Given the description of an element on the screen output the (x, y) to click on. 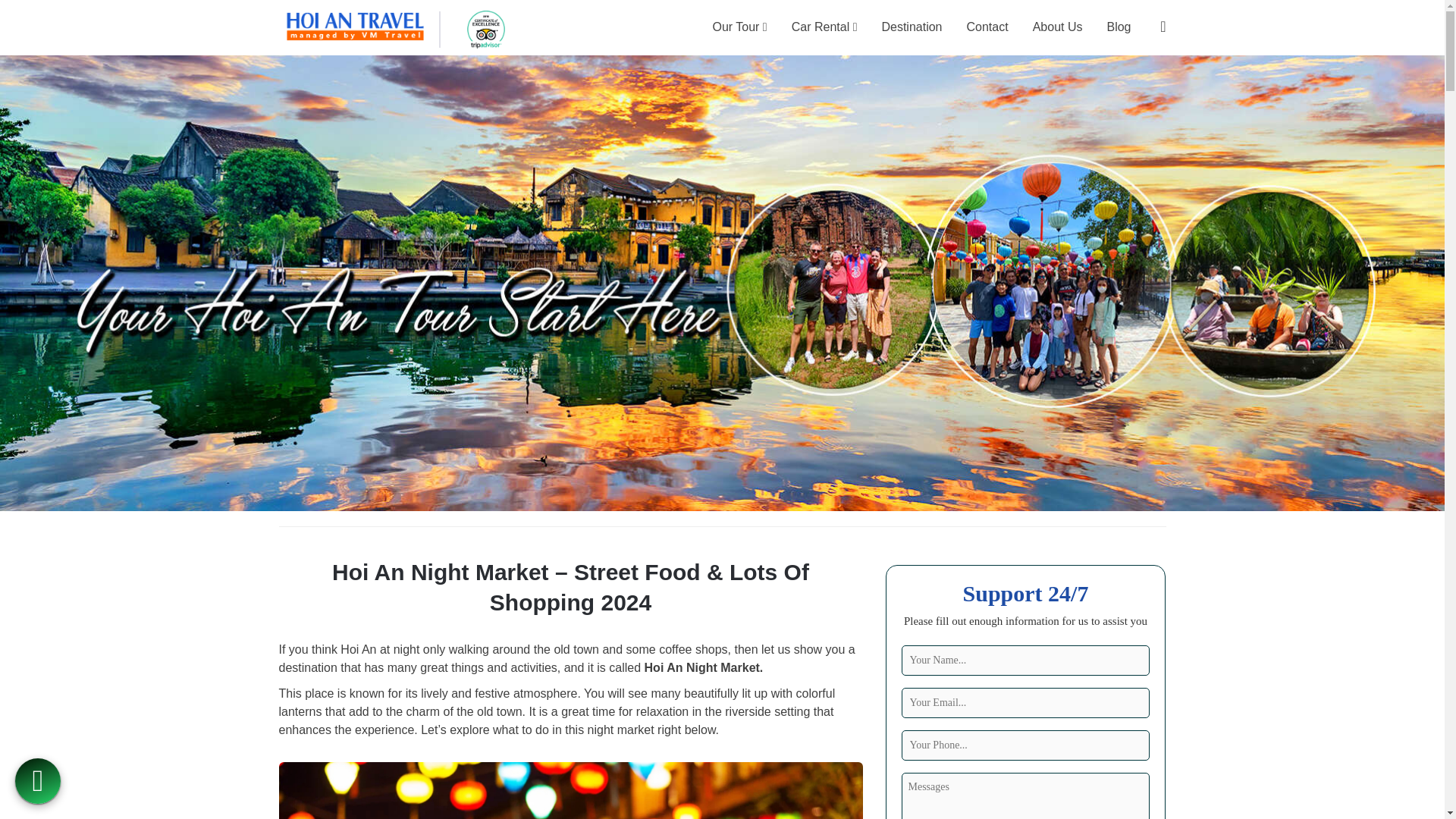
Car Rental (823, 27)
Contact (987, 27)
Our Tour (739, 27)
Blog (1118, 27)
About Us (1057, 27)
Destination (911, 27)
Trip Advisor Certificate of Excellence (486, 28)
